Given the description of an element on the screen output the (x, y) to click on. 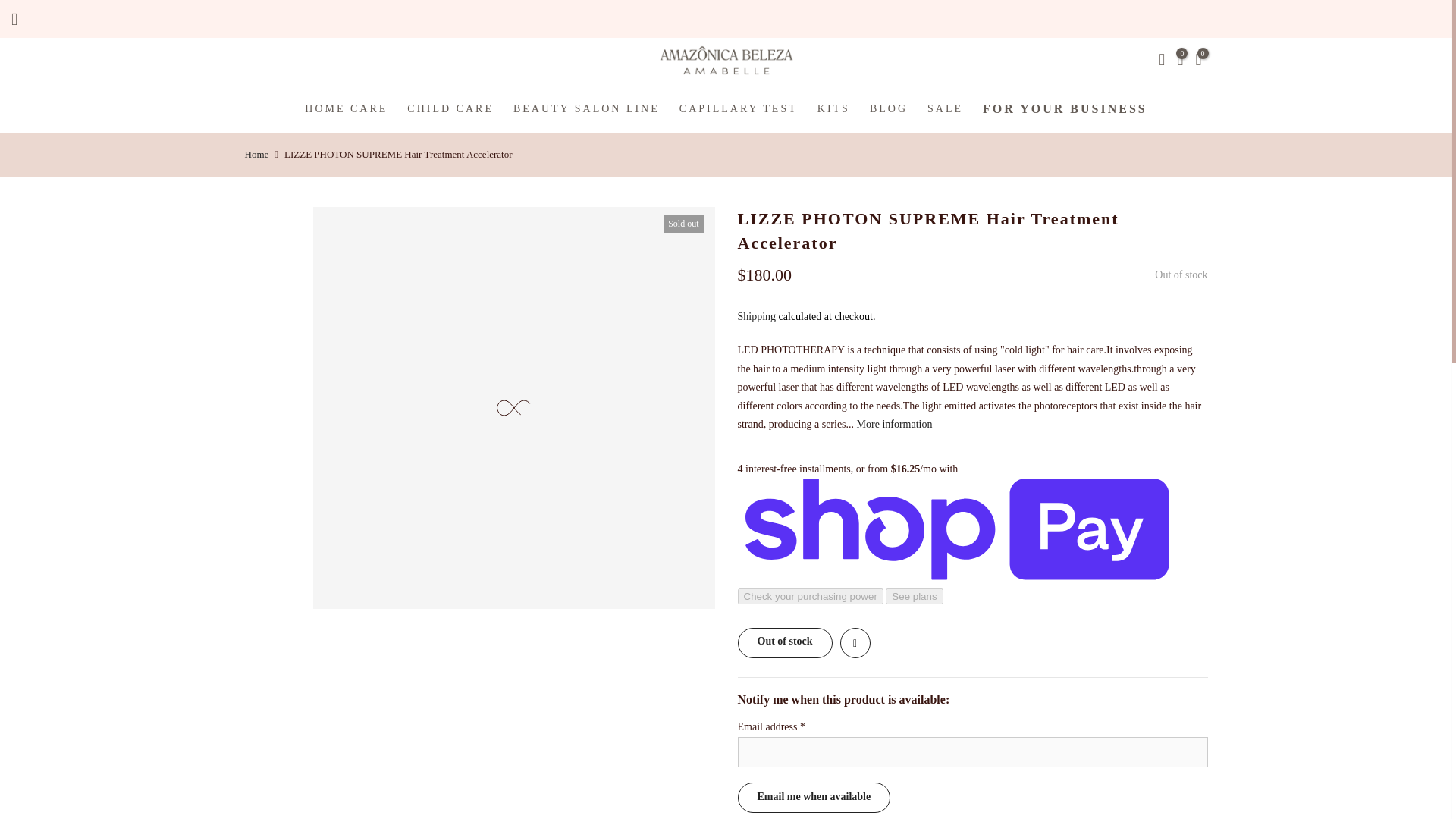
BLOG (888, 108)
HOME CARE (346, 108)
CHILD CARE (450, 108)
Home (255, 154)
BEAUTY SALON LINE (586, 108)
0 (1198, 61)
Email me when available (812, 797)
FOR YOUR BUSINESS (1064, 108)
CAPILLARY TEST (738, 108)
frameChatWolkvox (1409, 782)
SALE (944, 108)
0 (1179, 61)
KITS (834, 108)
